Given the description of an element on the screen output the (x, y) to click on. 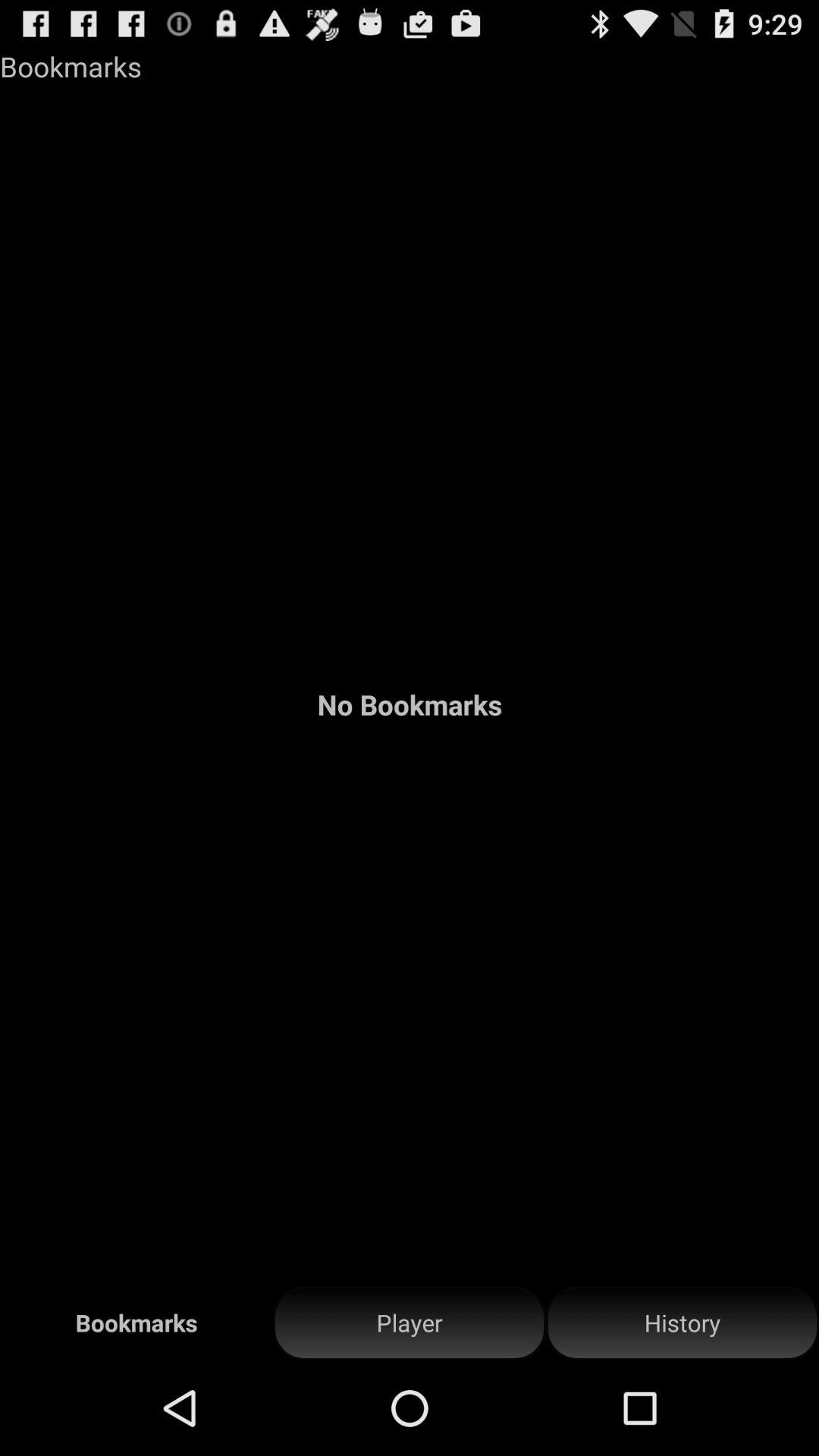
choose item next to history item (409, 1323)
